Given the description of an element on the screen output the (x, y) to click on. 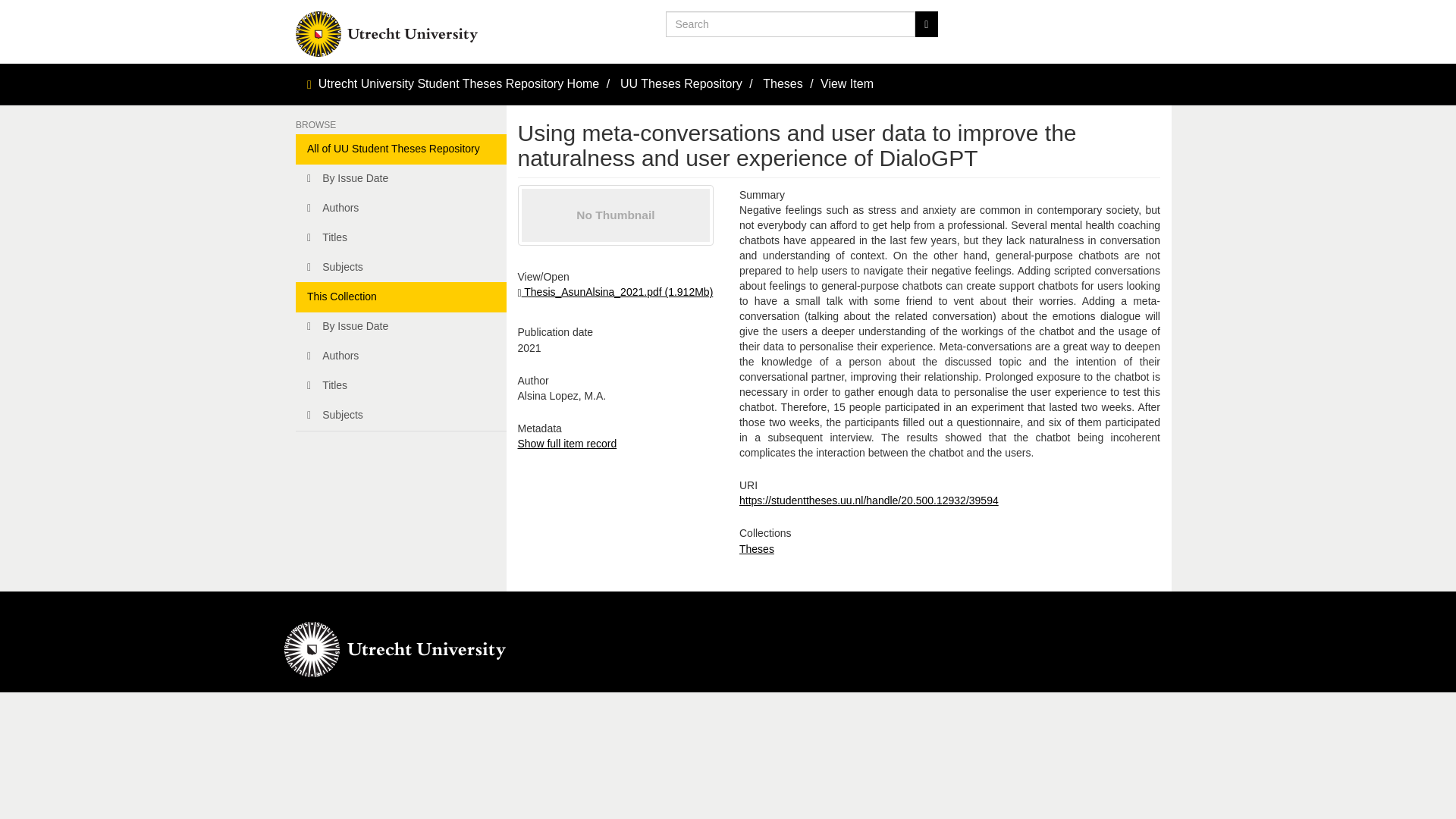
Subjects (400, 415)
Authors (400, 356)
Theses (782, 83)
Utrecht University Student Theses Repository Home (458, 83)
Go (925, 23)
Subjects (400, 267)
Authors (400, 208)
All of UU Student Theses Repository (400, 149)
UU Theses Repository (681, 83)
By Issue Date (400, 178)
